Given the description of an element on the screen output the (x, y) to click on. 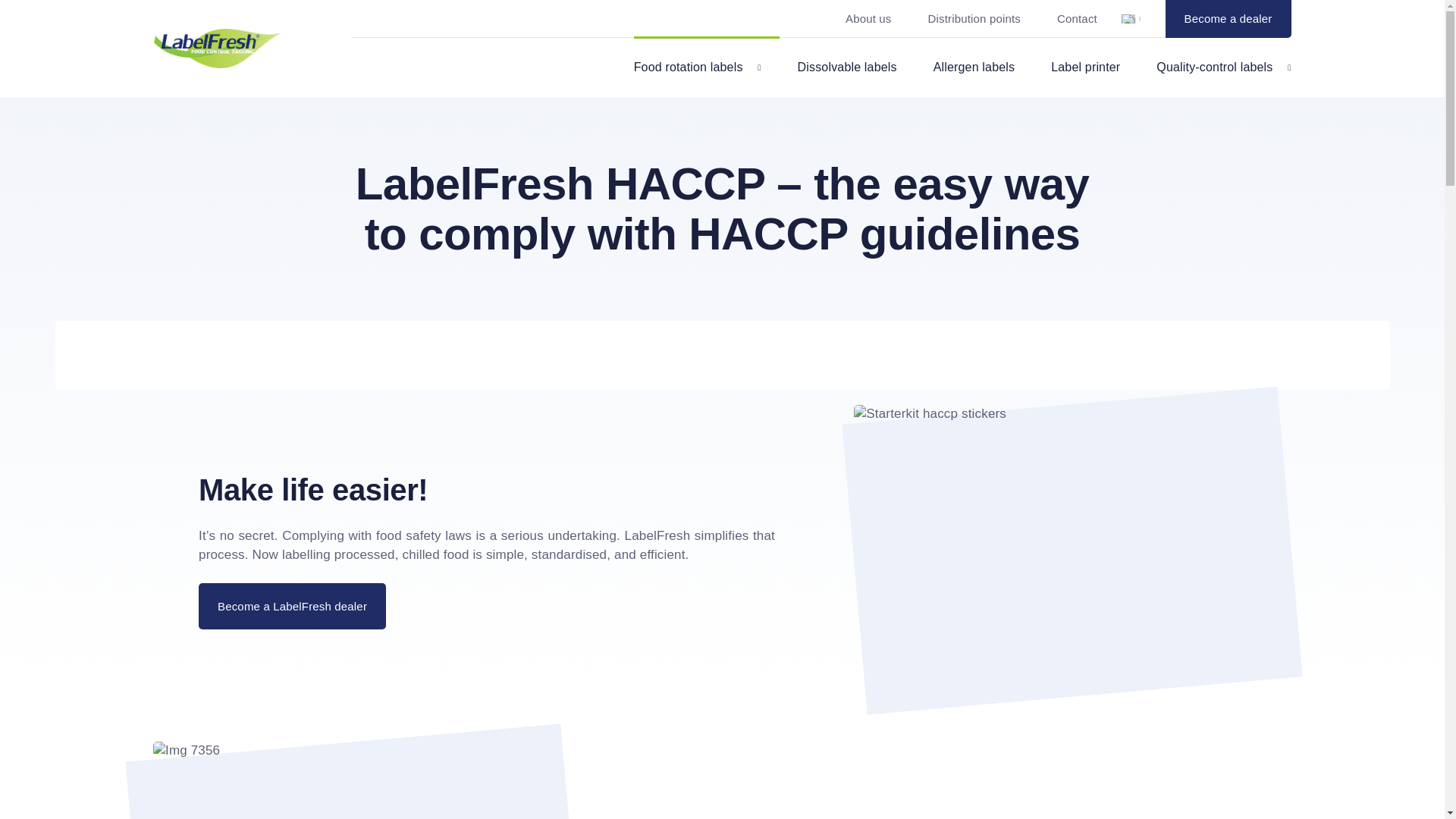
Quality-control labels (1223, 66)
Contact (1077, 18)
English (1131, 18)
Become a dealer (1228, 18)
Food rotation labels (697, 66)
Flag United Kingdom (1128, 18)
About us (868, 18)
Dissolvable labels (846, 66)
Distribution points (974, 18)
Img 7356 (370, 780)
Become a dealer (1228, 18)
Label printer (1085, 66)
Starterkit haccp stickers (1071, 550)
Become a LabelFresh dealer (291, 606)
Allergen labels (973, 66)
